Given the description of an element on the screen output the (x, y) to click on. 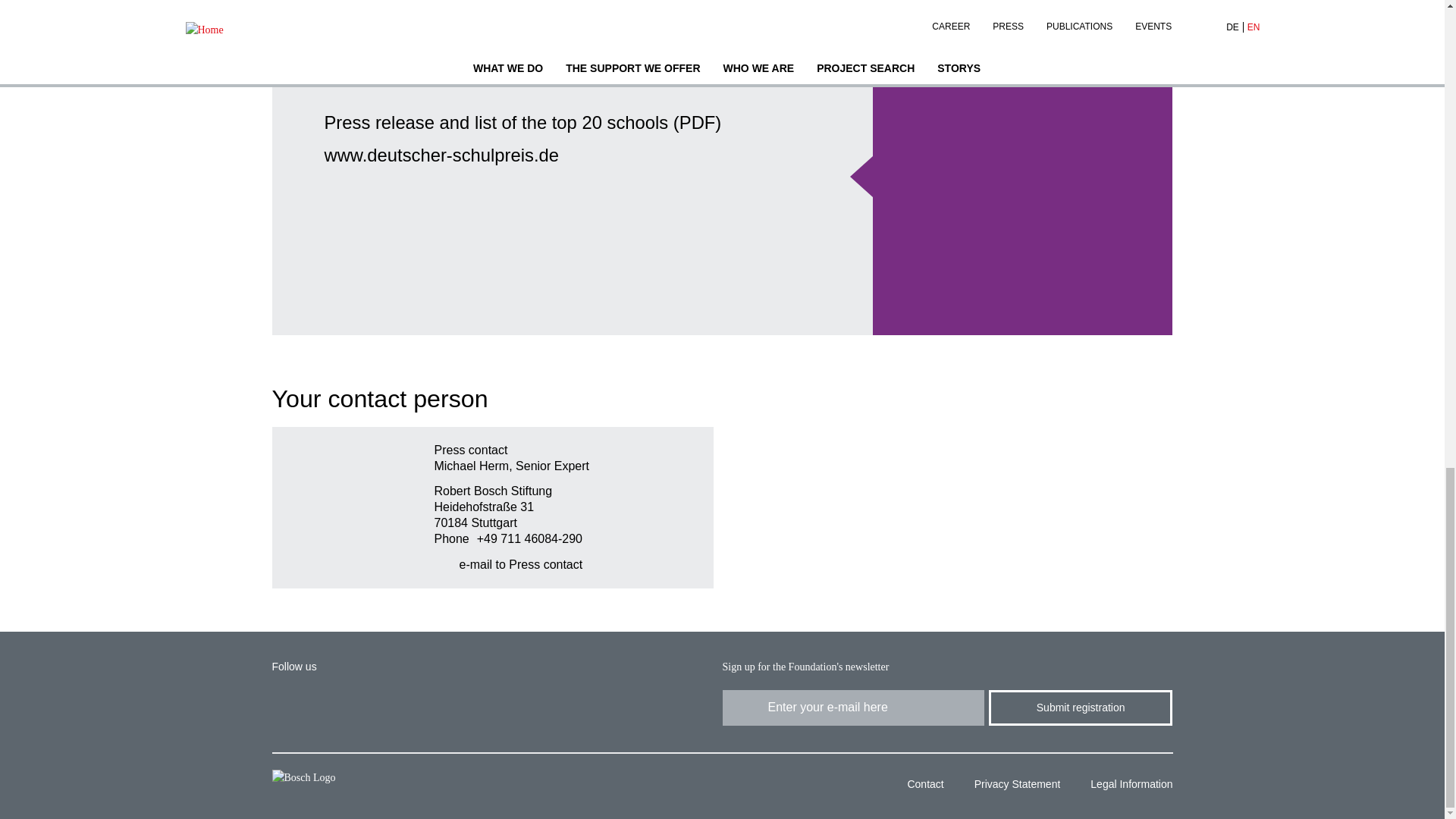
Contact (919, 786)
youtube (395, 707)
Enter your e-mail here (853, 707)
www.deutscher-schulpreis.de (441, 154)
e-mail to Press contact (507, 564)
facebook (343, 707)
instagram (450, 707)
Linkedin (287, 707)
Submit registration (1080, 707)
Privacy Statement (1011, 786)
